Given the description of an element on the screen output the (x, y) to click on. 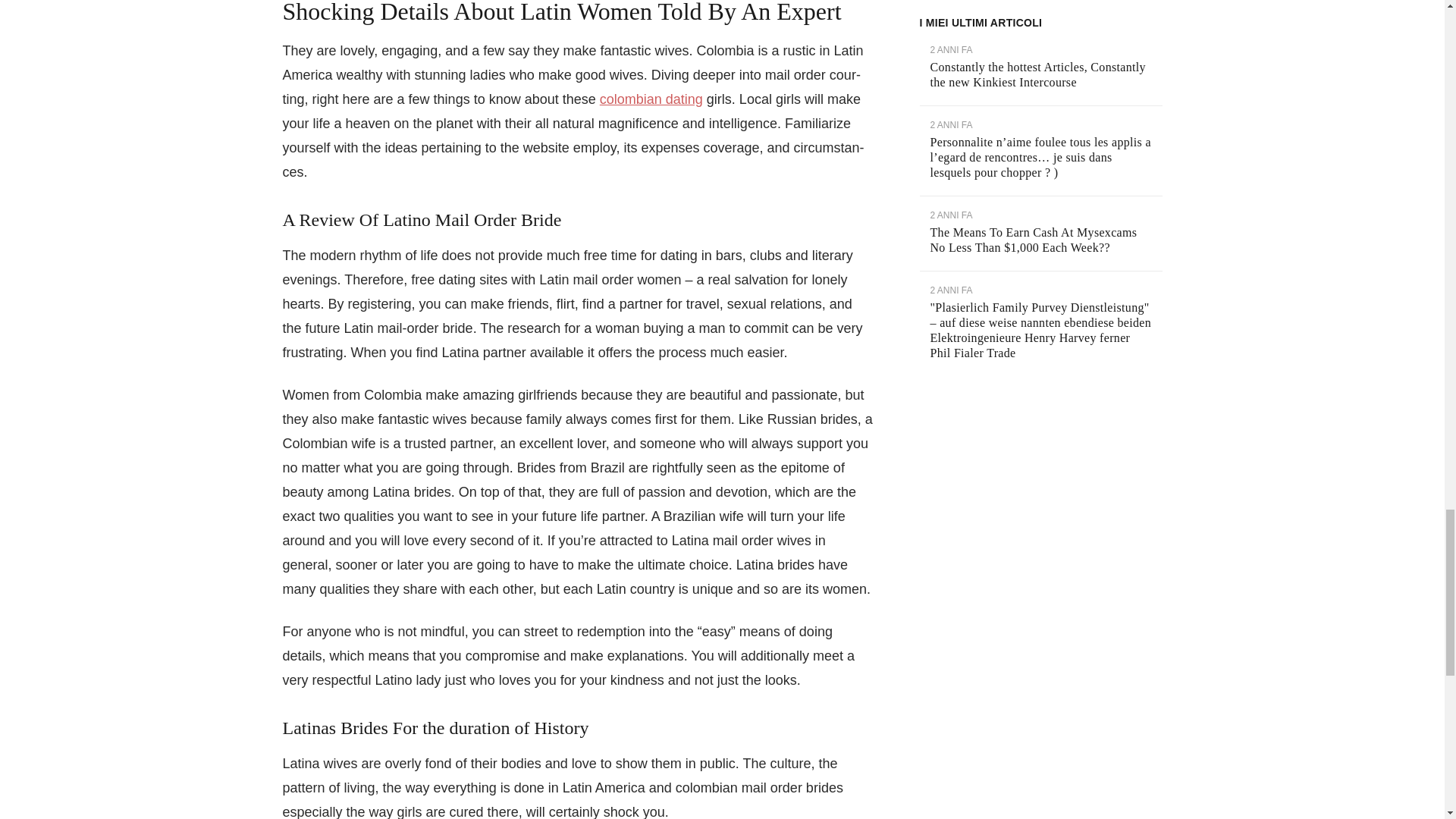
colombian dating (651, 99)
